Given the description of an element on the screen output the (x, y) to click on. 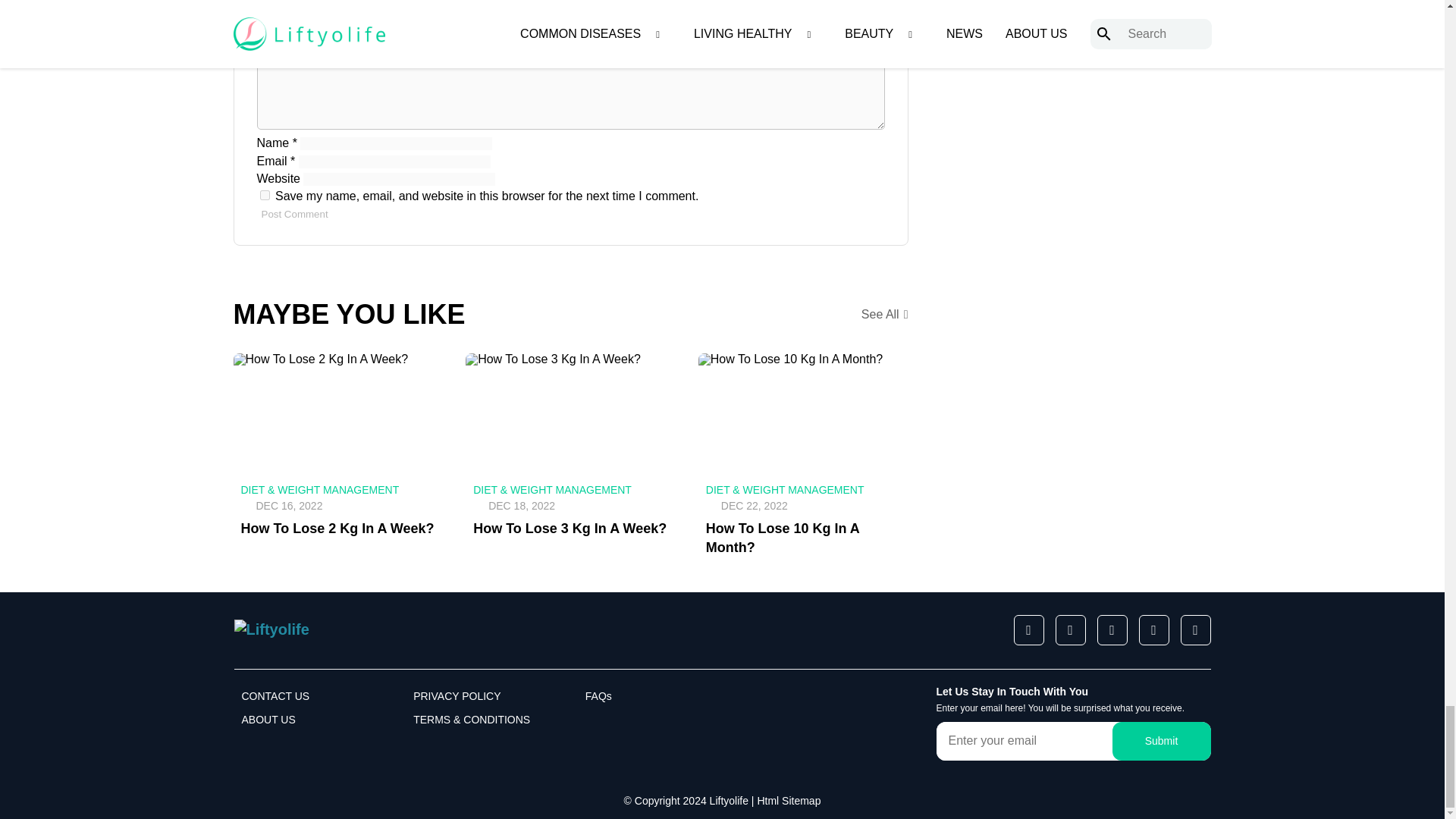
Post Comment (293, 214)
yes (264, 194)
